Given the description of an element on the screen output the (x, y) to click on. 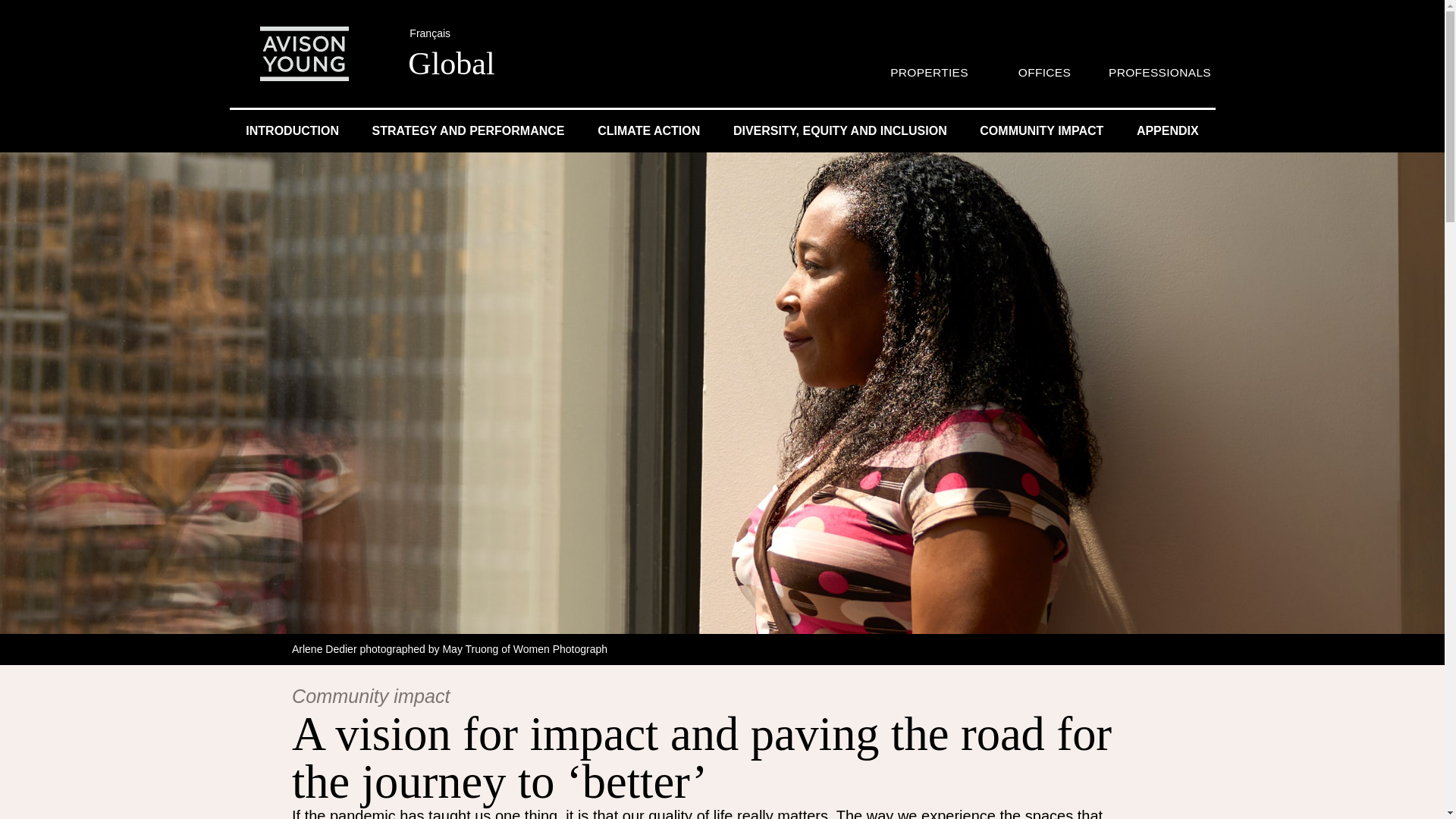
PROPERTIES (928, 72)
Skip to Main Content (5, 5)
Global (451, 62)
PROFESSIONALS (1158, 72)
OFFICES (1043, 72)
